Given the description of an element on the screen output the (x, y) to click on. 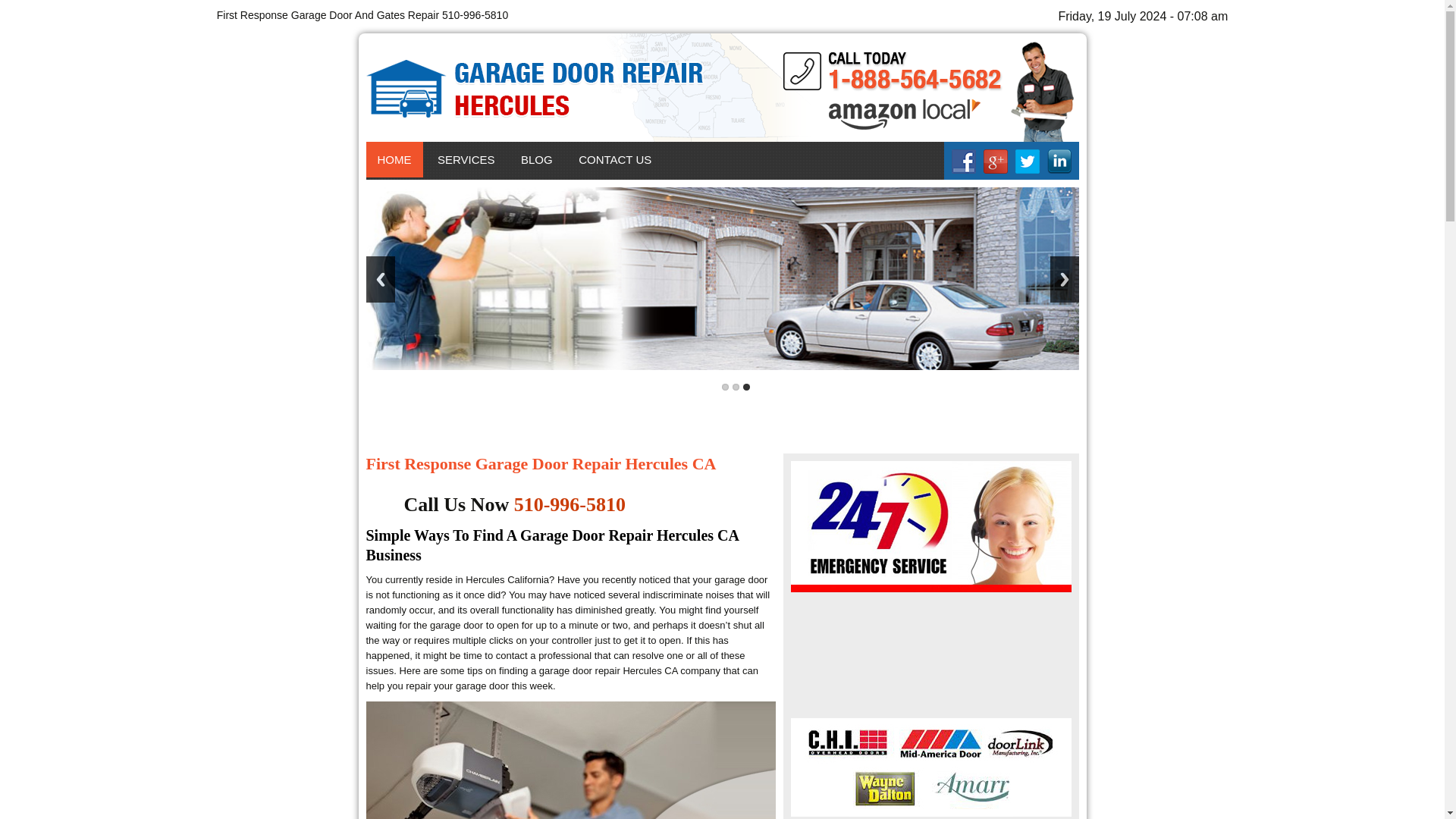
GARAGE DOOR SPRING REPAIR HERCULES (512, 212)
 LinkedIn (1058, 161)
 Twitter (1026, 161)
CONTACT US (614, 159)
 Facebook (962, 161)
HOME (393, 159)
2 (735, 387)
SERVICES (466, 159)
BLOG (536, 159)
510-996-5810 (569, 504)
3 (745, 387)
1 (725, 387)
